Given the description of an element on the screen output the (x, y) to click on. 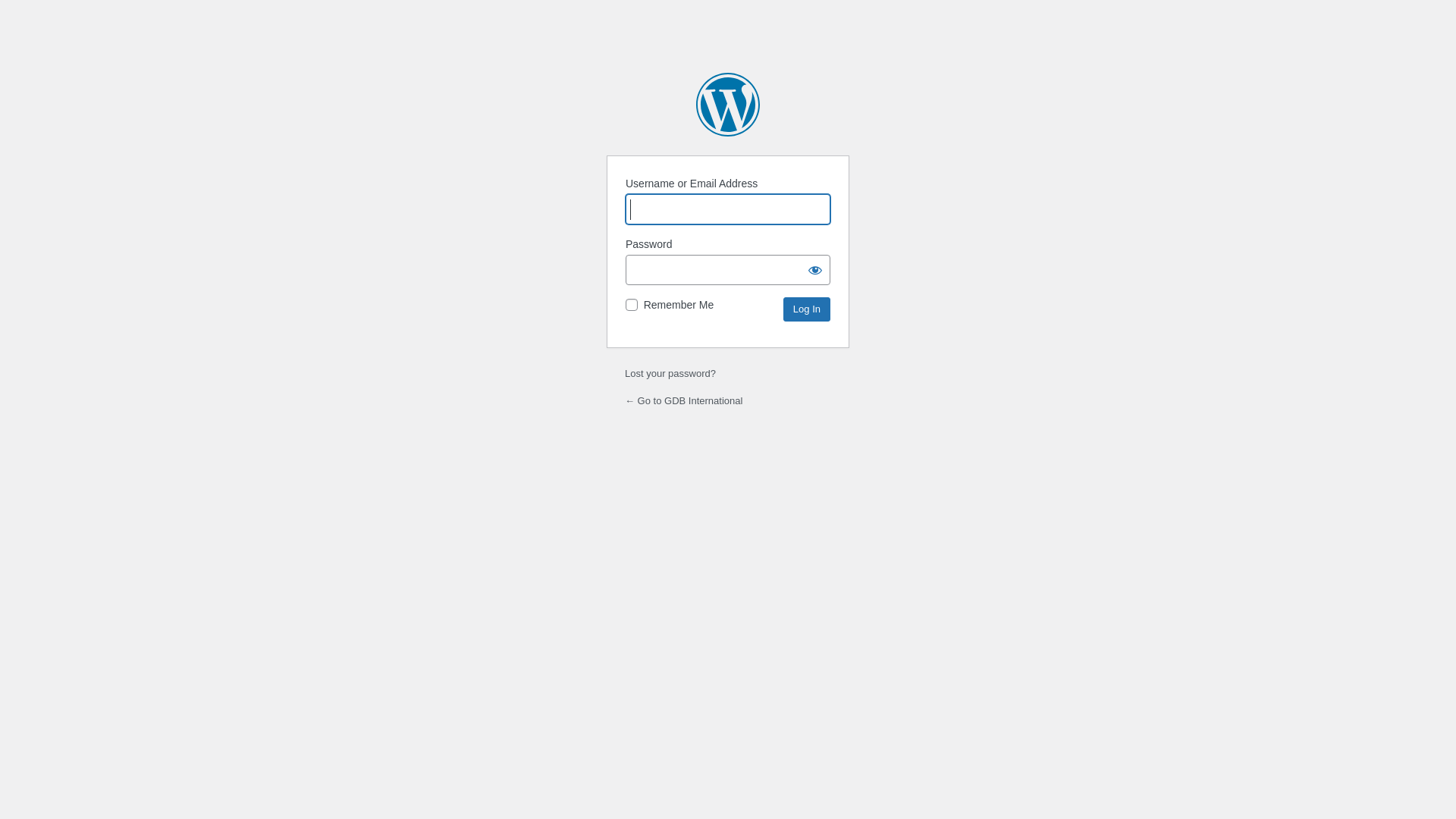
Powered by WordPress Element type: text (727, 104)
Lost your password? Element type: text (669, 373)
Log In Element type: text (806, 309)
